Given the description of an element on the screen output the (x, y) to click on. 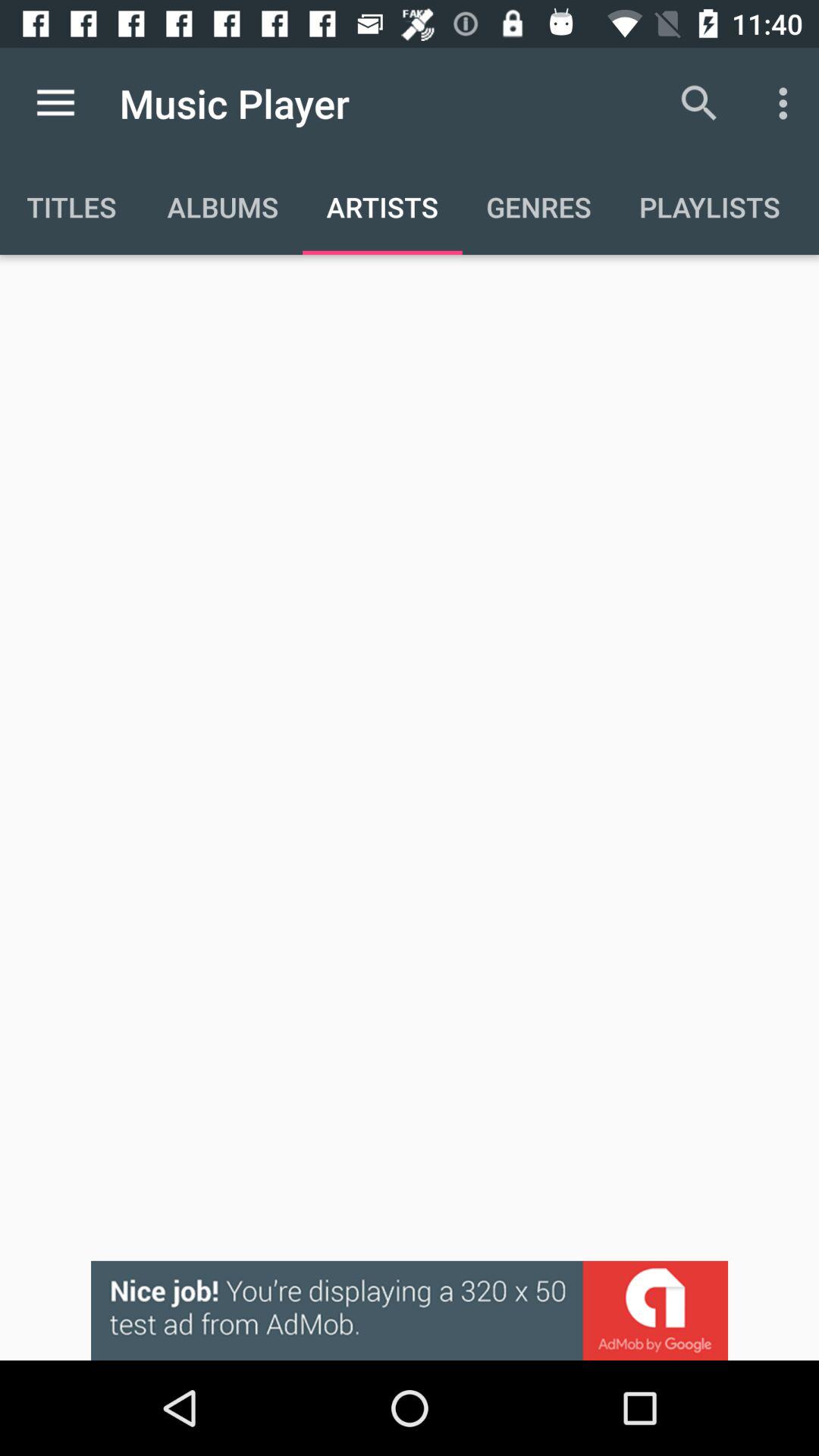
go to home page (55, 103)
